Given the description of an element on the screen output the (x, y) to click on. 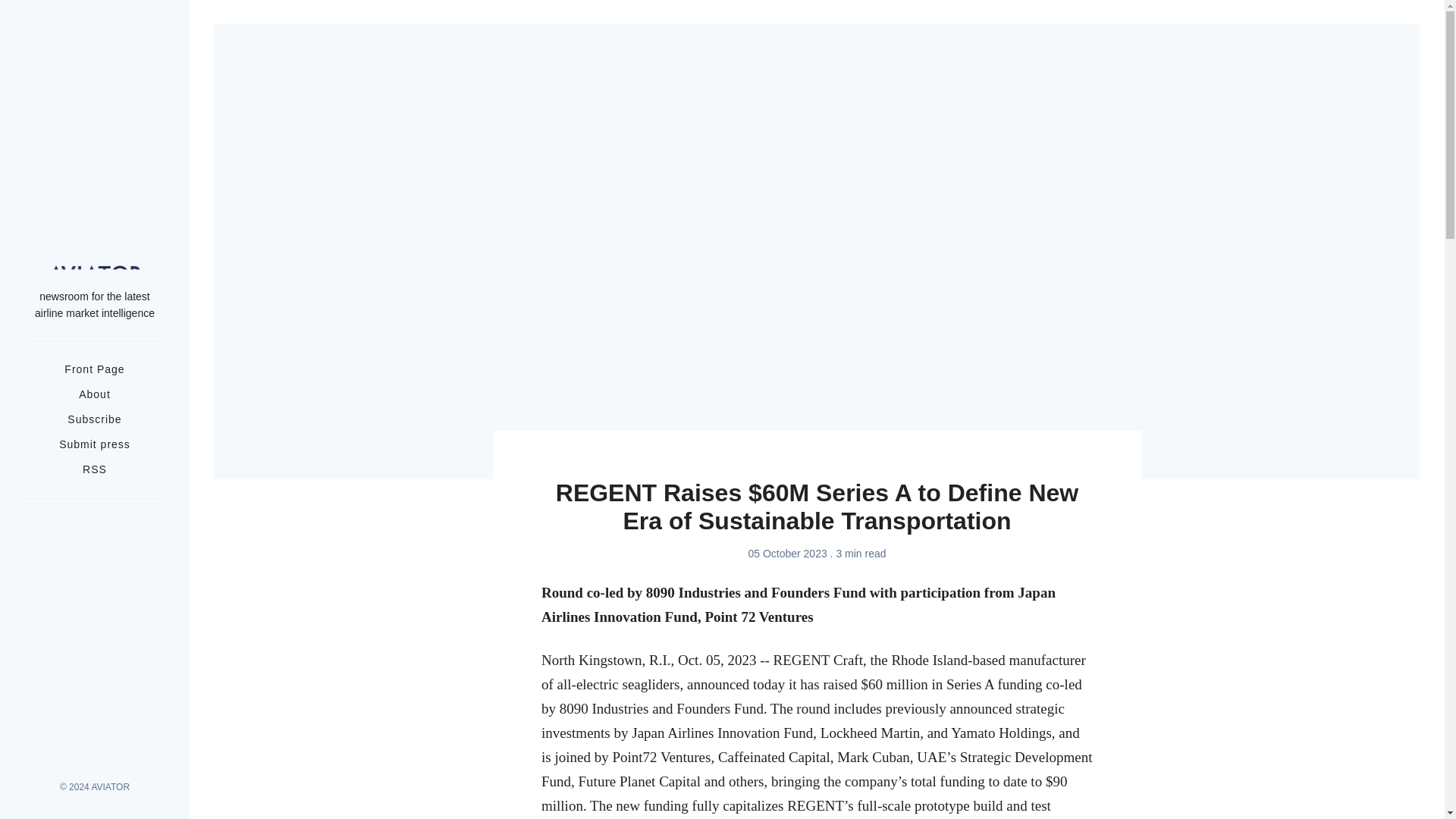
About (94, 394)
Subscribe (93, 419)
Submit press (95, 444)
RSS (94, 469)
Front Page (93, 369)
